Given the description of an element on the screen output the (x, y) to click on. 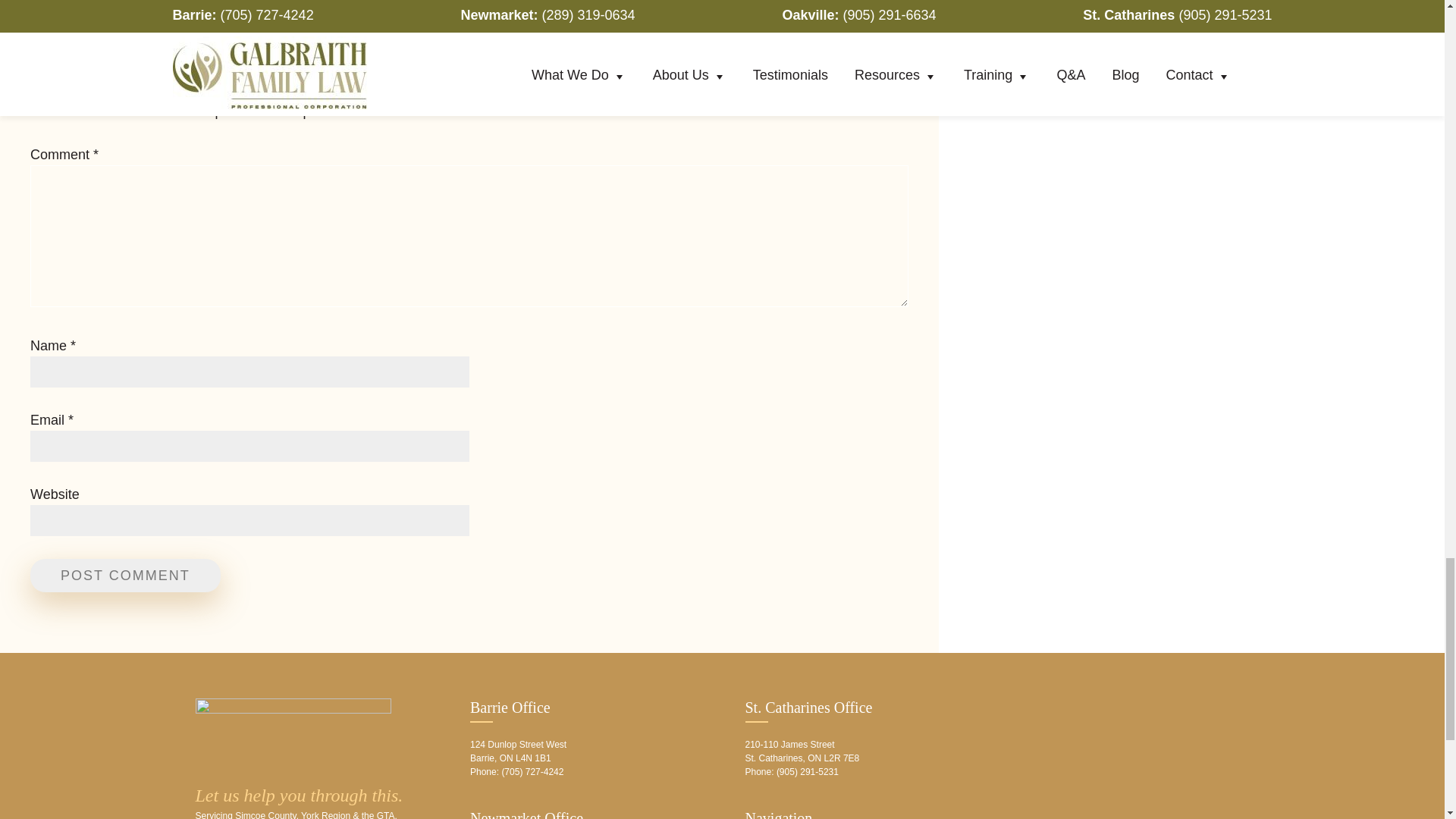
Post Comment (125, 574)
